Given the description of an element on the screen output the (x, y) to click on. 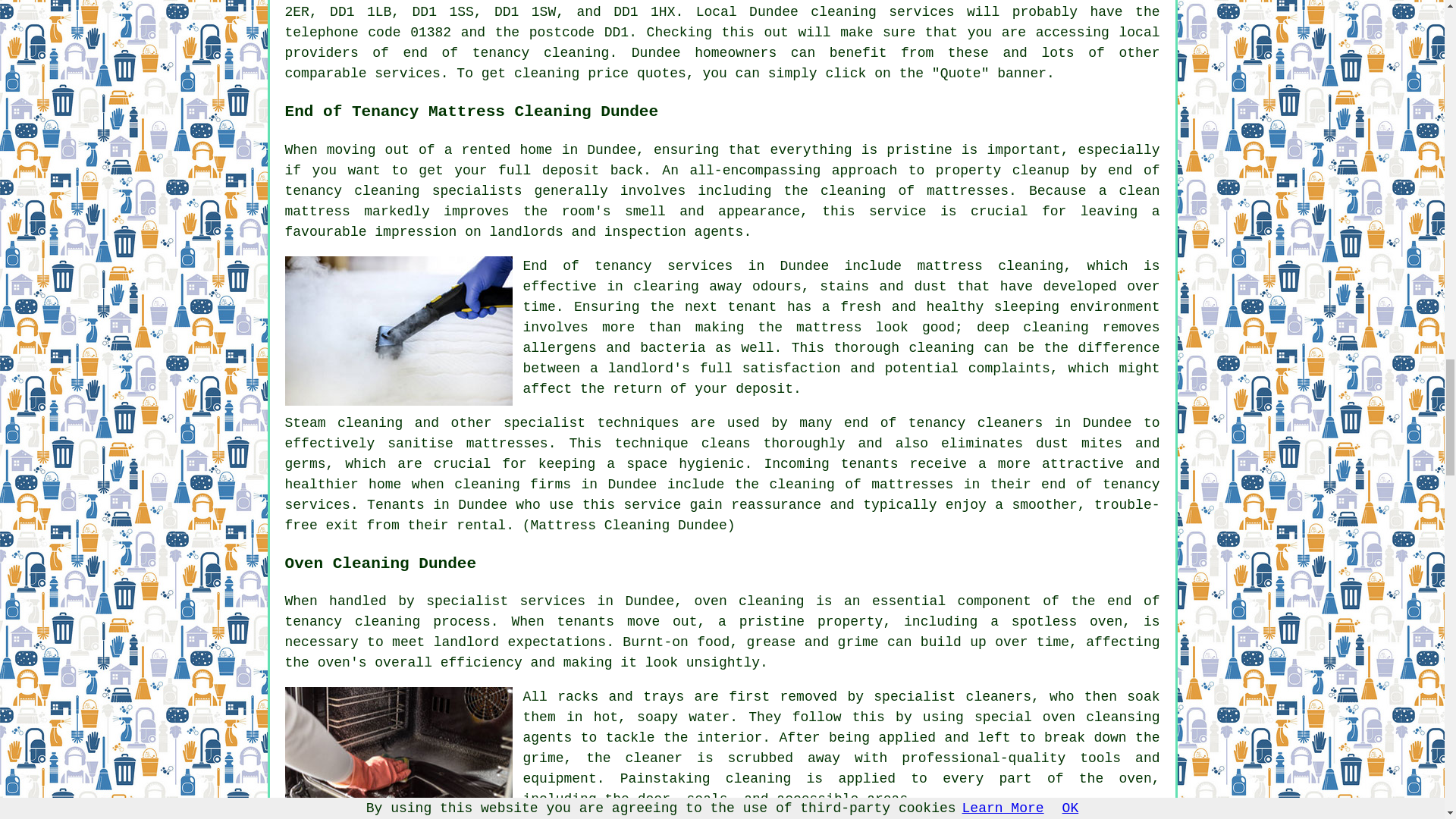
deep cleaning (1032, 327)
Oven Cleaning Dundee (398, 753)
cleaners (1009, 422)
cleaning services (881, 11)
end of tenancy cleaning (506, 52)
Mattress Cleaning Dundee (398, 330)
end of tenancy cleaning (722, 611)
